Given the description of an element on the screen output the (x, y) to click on. 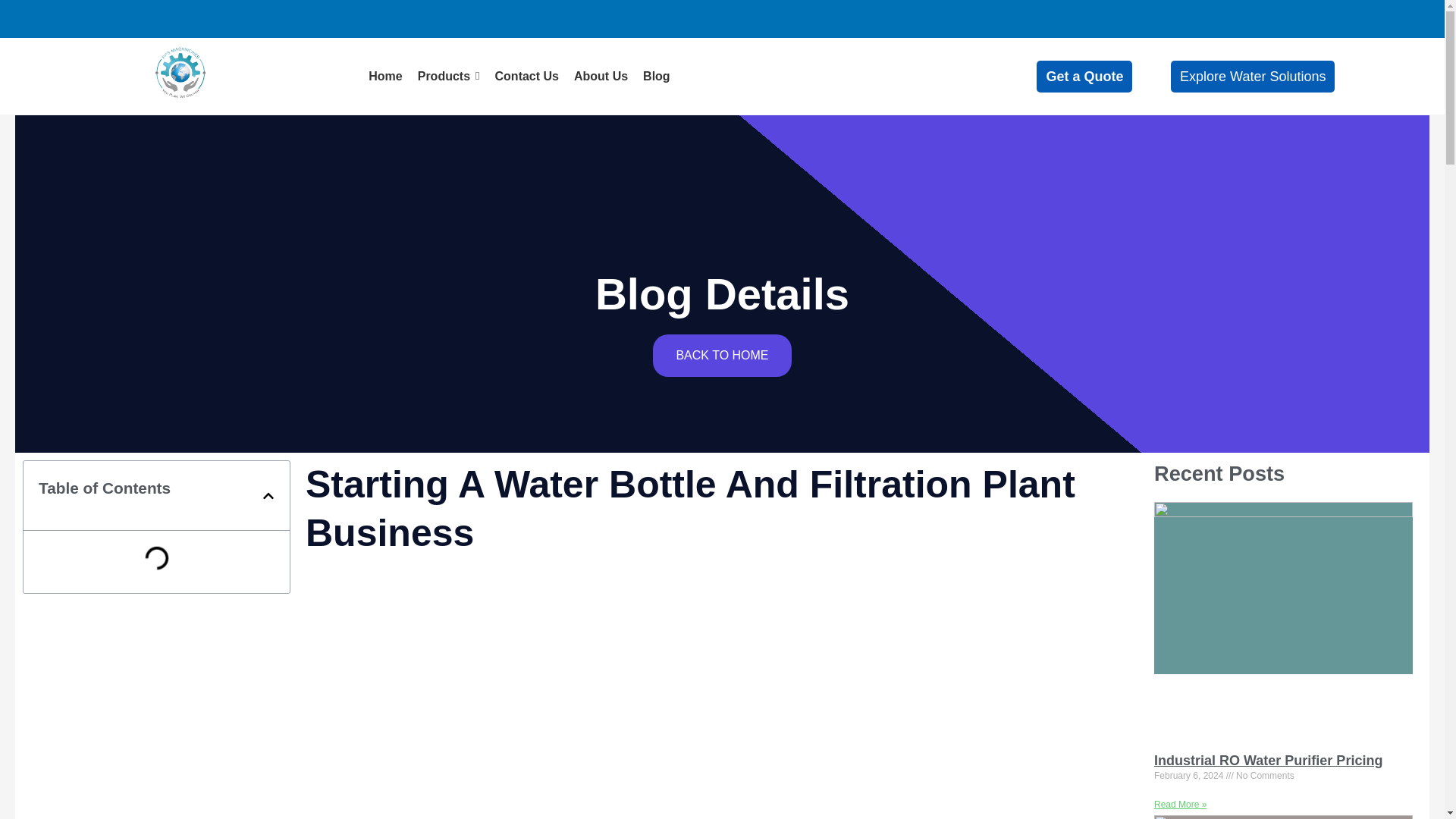
Products (448, 76)
View all posts by ppswaterengineers (194, 208)
About Us (600, 76)
Contact Us (527, 76)
Home (384, 76)
